Given the description of an element on the screen output the (x, y) to click on. 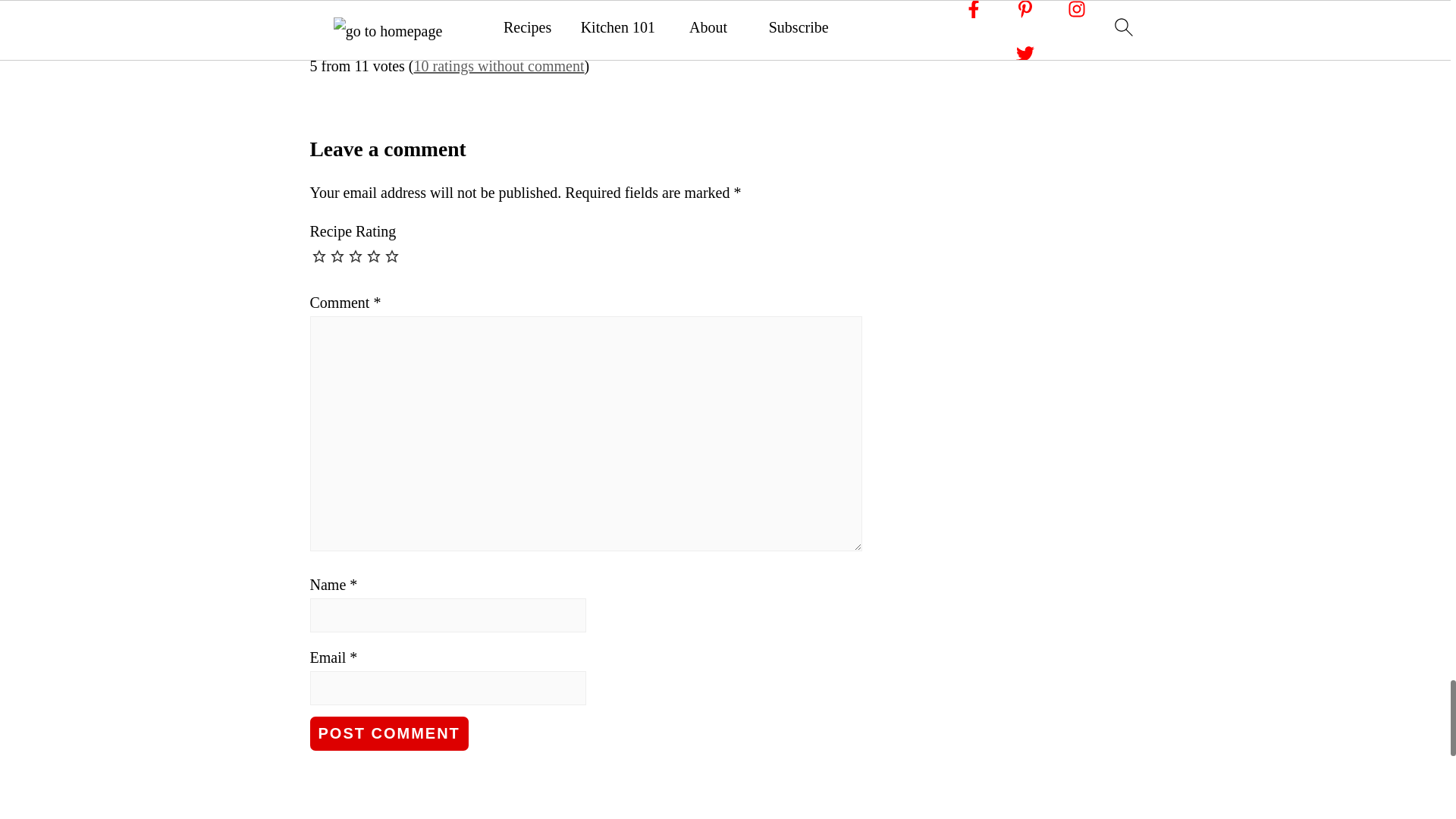
Post Comment (387, 733)
